Given the description of an element on the screen output the (x, y) to click on. 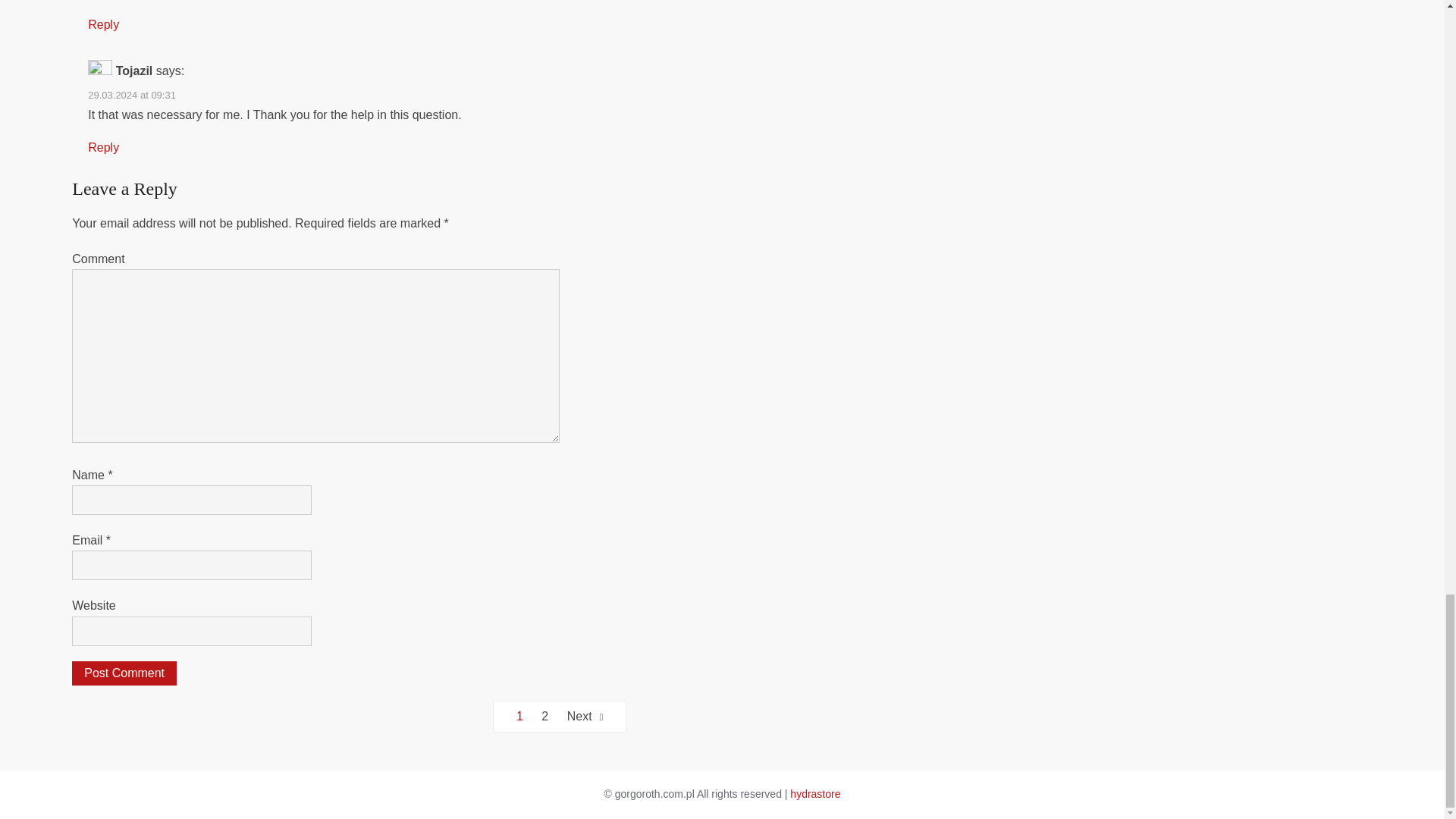
Post Comment (123, 672)
29.03.2024 at 09:31 (131, 94)
Post Comment (123, 672)
Next (585, 716)
Reply (103, 146)
Reply (103, 24)
